Given the description of an element on the screen output the (x, y) to click on. 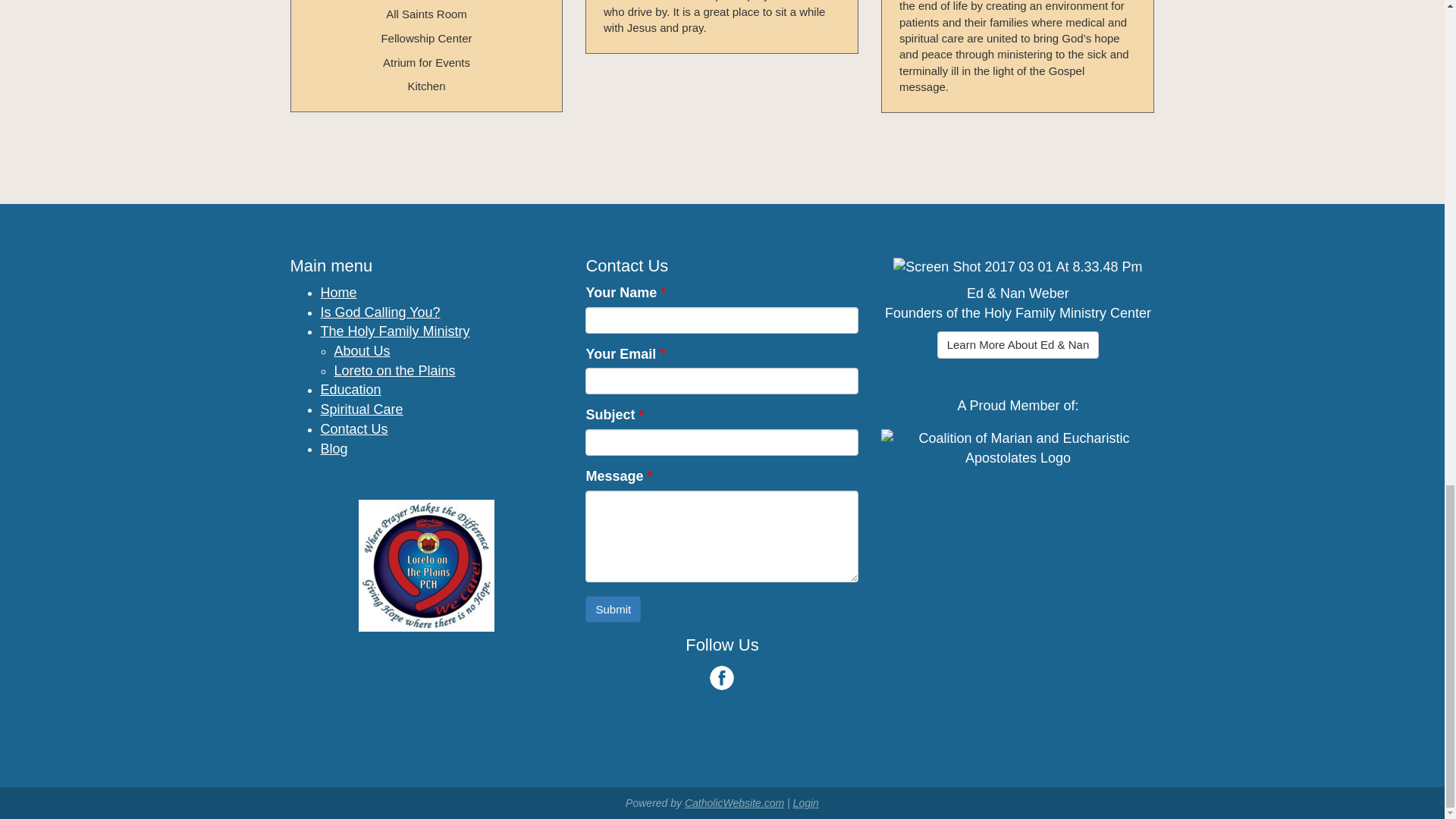
Is God Calling You? (379, 312)
Home (338, 292)
The Holy Family Ministry (394, 331)
About Us (361, 350)
Login (805, 802)
Blog (333, 448)
Contact Us (353, 428)
Education (350, 389)
Submit (612, 609)
Spiritual Care (361, 409)
